Given the description of an element on the screen output the (x, y) to click on. 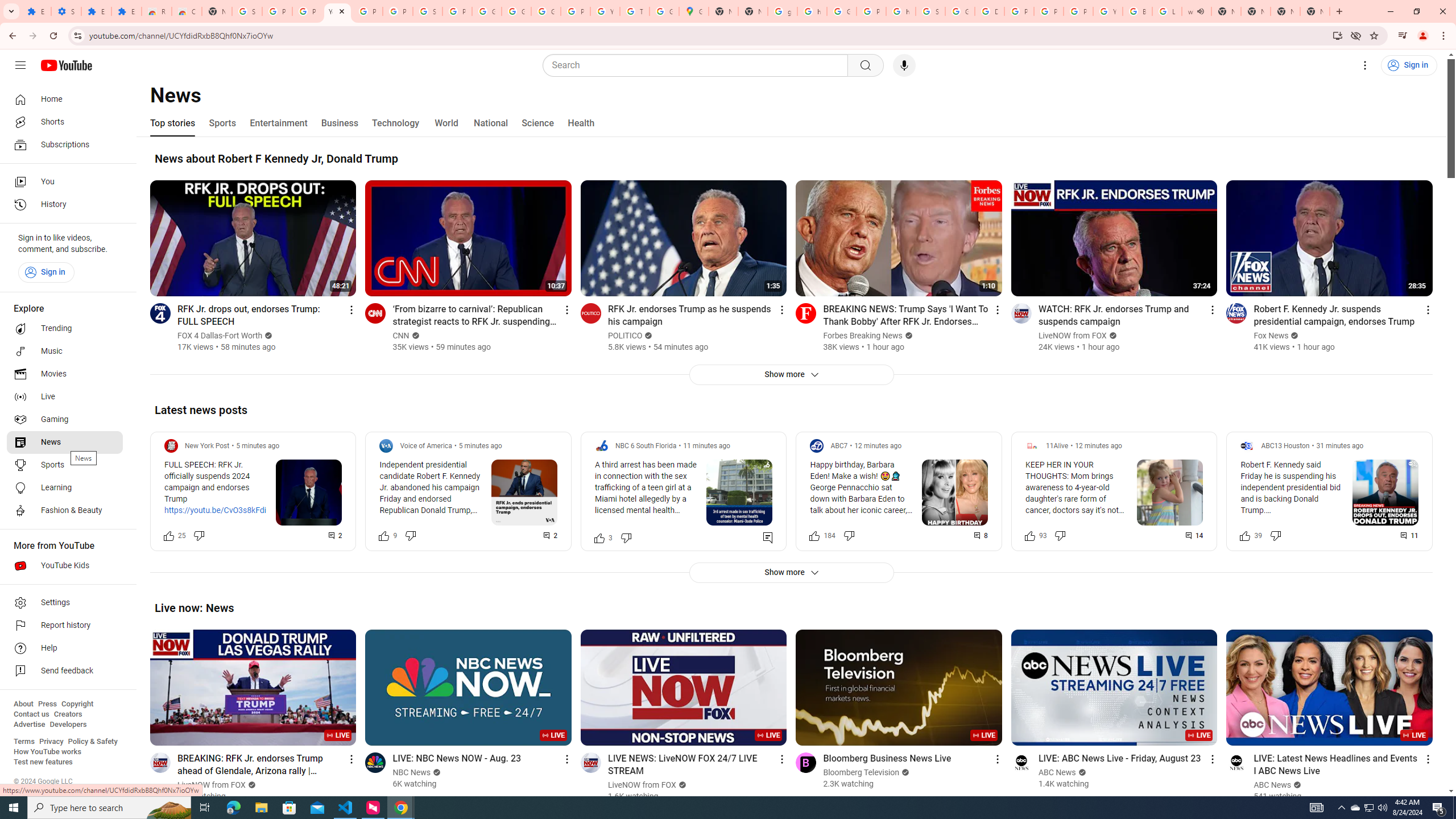
Sign in - Google Accounts (247, 11)
News (64, 441)
5 minutes ago (480, 445)
Advertise (29, 724)
National (490, 122)
Fashion & Beauty (64, 510)
YouTube Kids (64, 565)
Creators (67, 714)
History (64, 204)
Developers (68, 724)
